Given the description of an element on the screen output the (x, y) to click on. 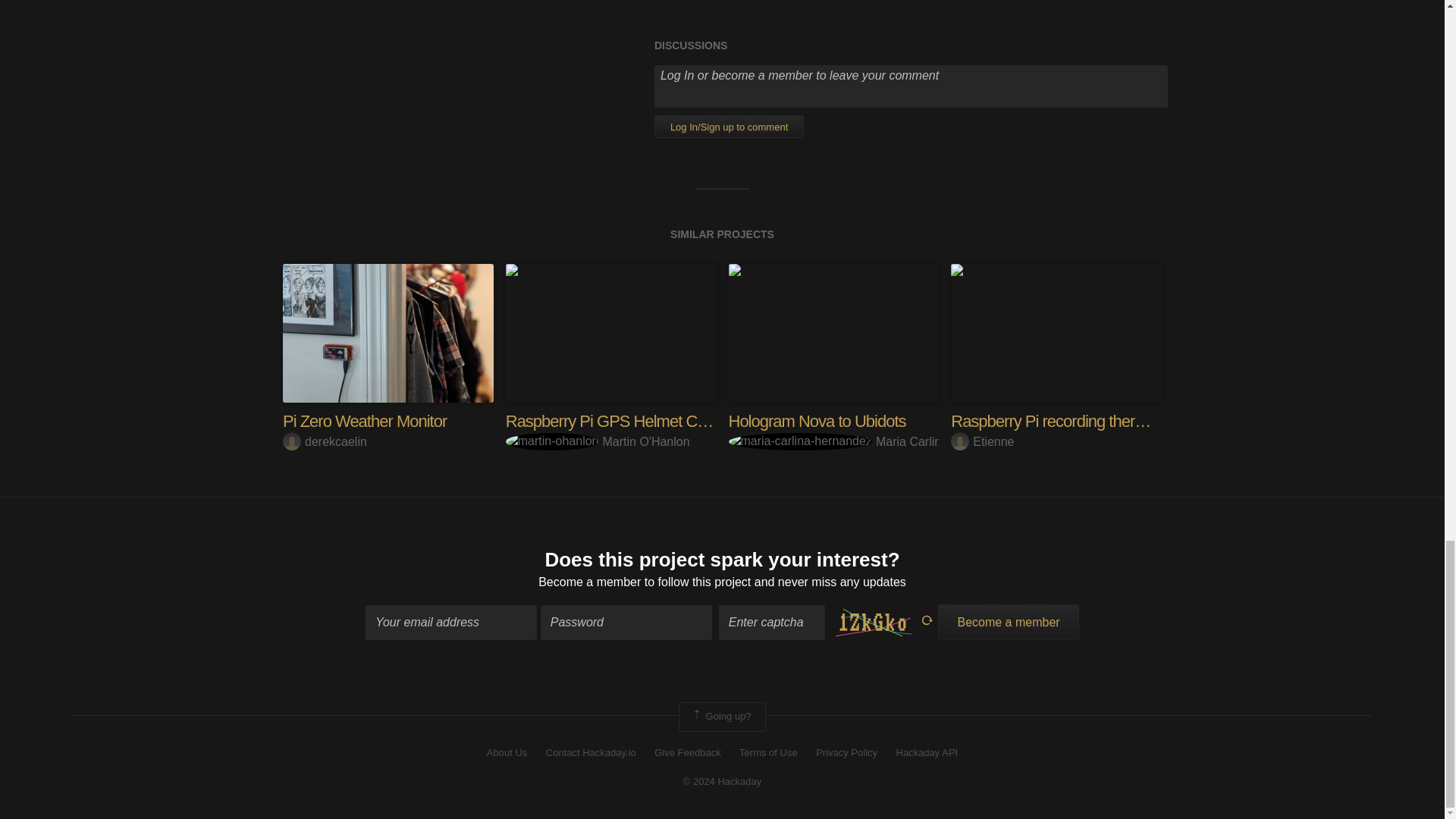
Pi Zero Weather Monitor by derekcaelin (387, 332)
Raspberry Pi GPS Helmet Cam by Martin O'Hanlon (610, 332)
Raspberry Pi recording thermometer (1072, 420)
Hologram Nova to Ubidots (816, 420)
Hologram Nova to Ubidots by Maria Carlina Hernandez (833, 332)
Raspberry Pi recording thermometer by Etienne (1055, 332)
Pi Zero Weather Monitor (364, 420)
Raspberry Pi GPS Helmet Cam (612, 420)
